Given the description of an element on the screen output the (x, y) to click on. 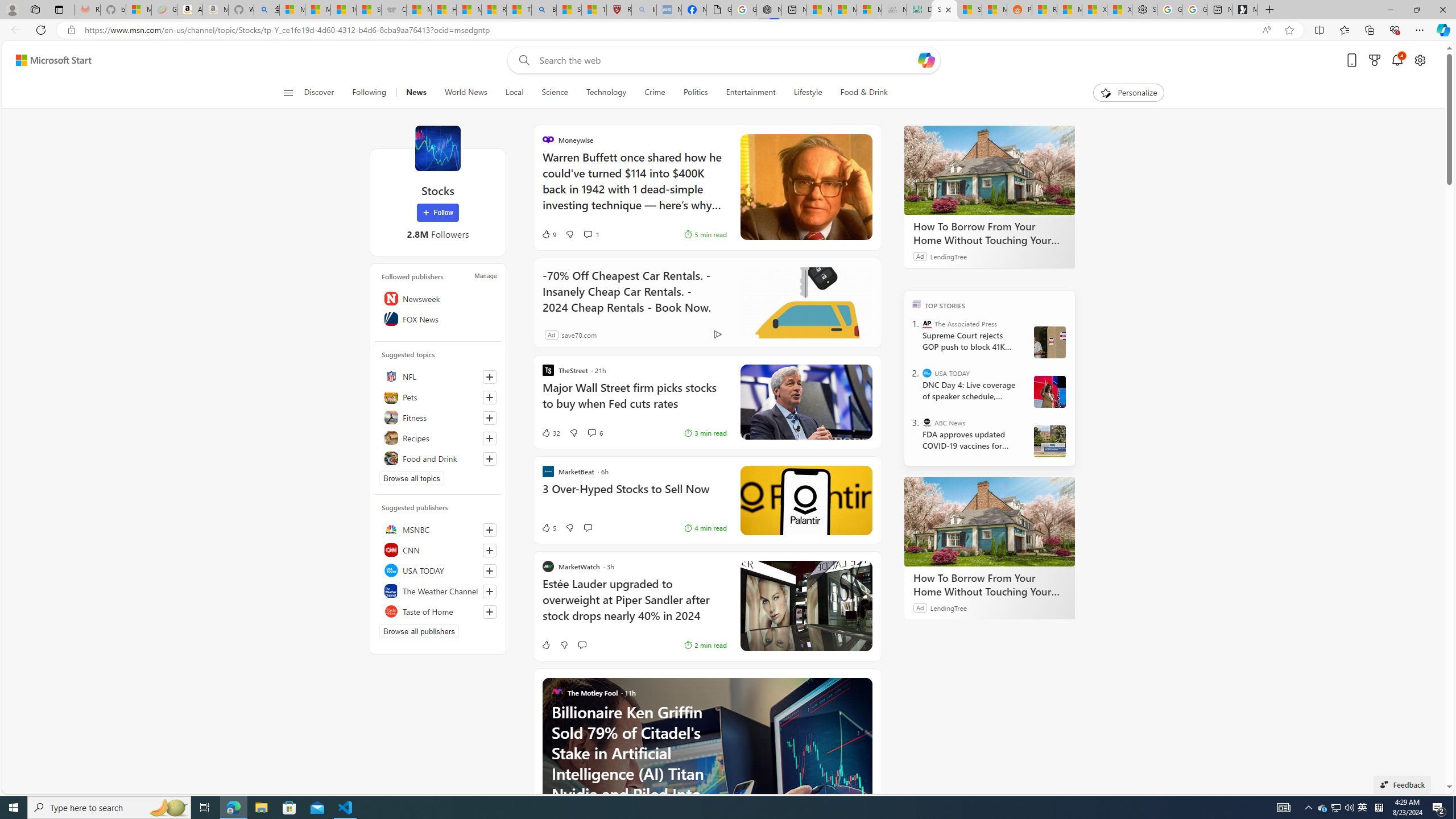
How I Got Rid of Microsoft Edge's Unnecessary Features (443, 9)
3 Over-Hyped Stocks to Sell Now (633, 494)
Open settings (1420, 60)
How To Borrow From Your Home Without Touching Your Mortgage (989, 521)
12 Popular Science Lies that Must be Corrected (593, 9)
Technology (605, 92)
Lifestyle (807, 92)
